Given the description of an element on the screen output the (x, y) to click on. 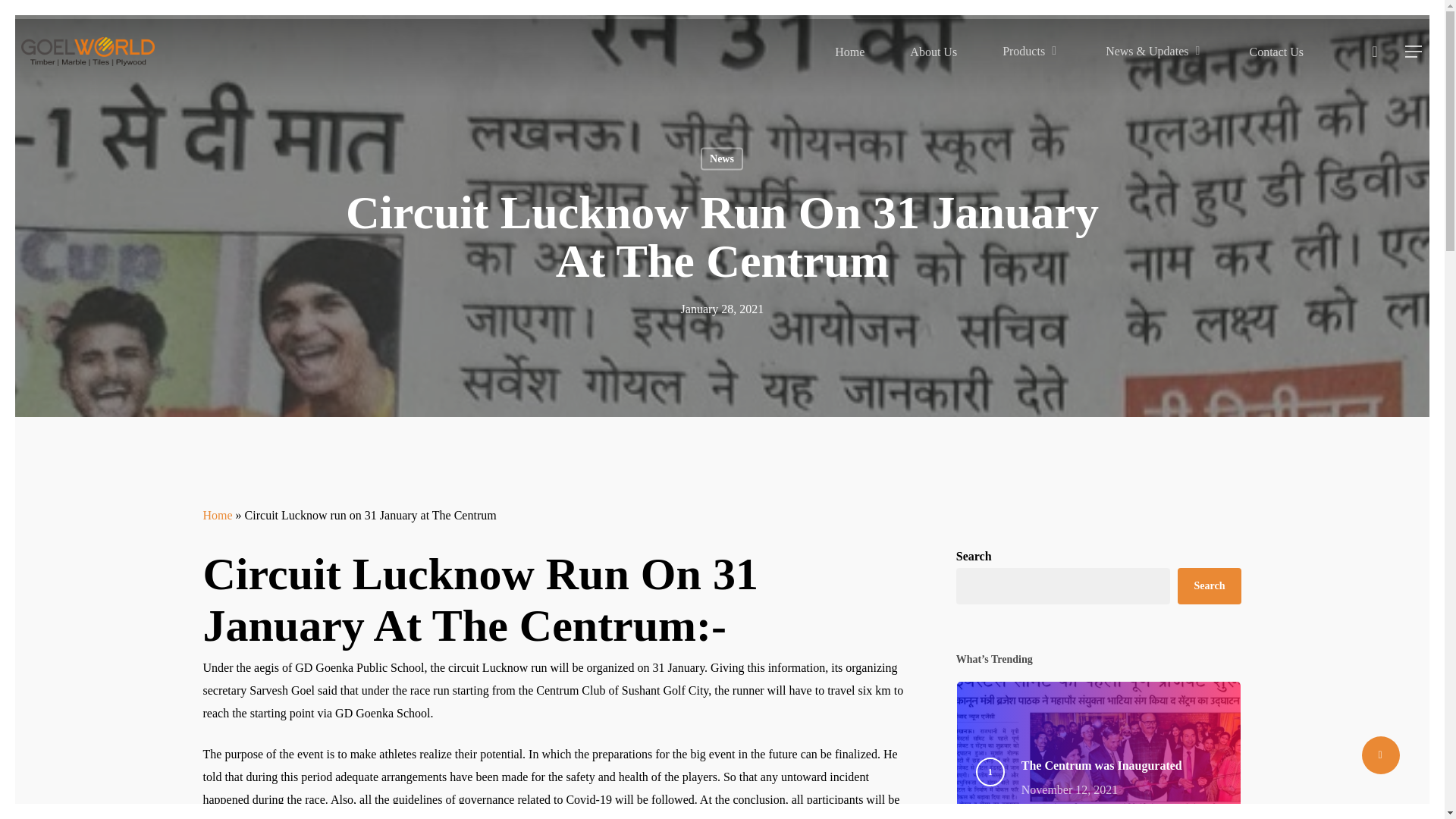
About Us (933, 51)
Contact Us (1276, 51)
Home (217, 514)
News (721, 158)
search (1374, 51)
Menu (1414, 51)
Search (1122, 779)
Products (1209, 586)
Home (1031, 51)
